Given the description of an element on the screen output the (x, y) to click on. 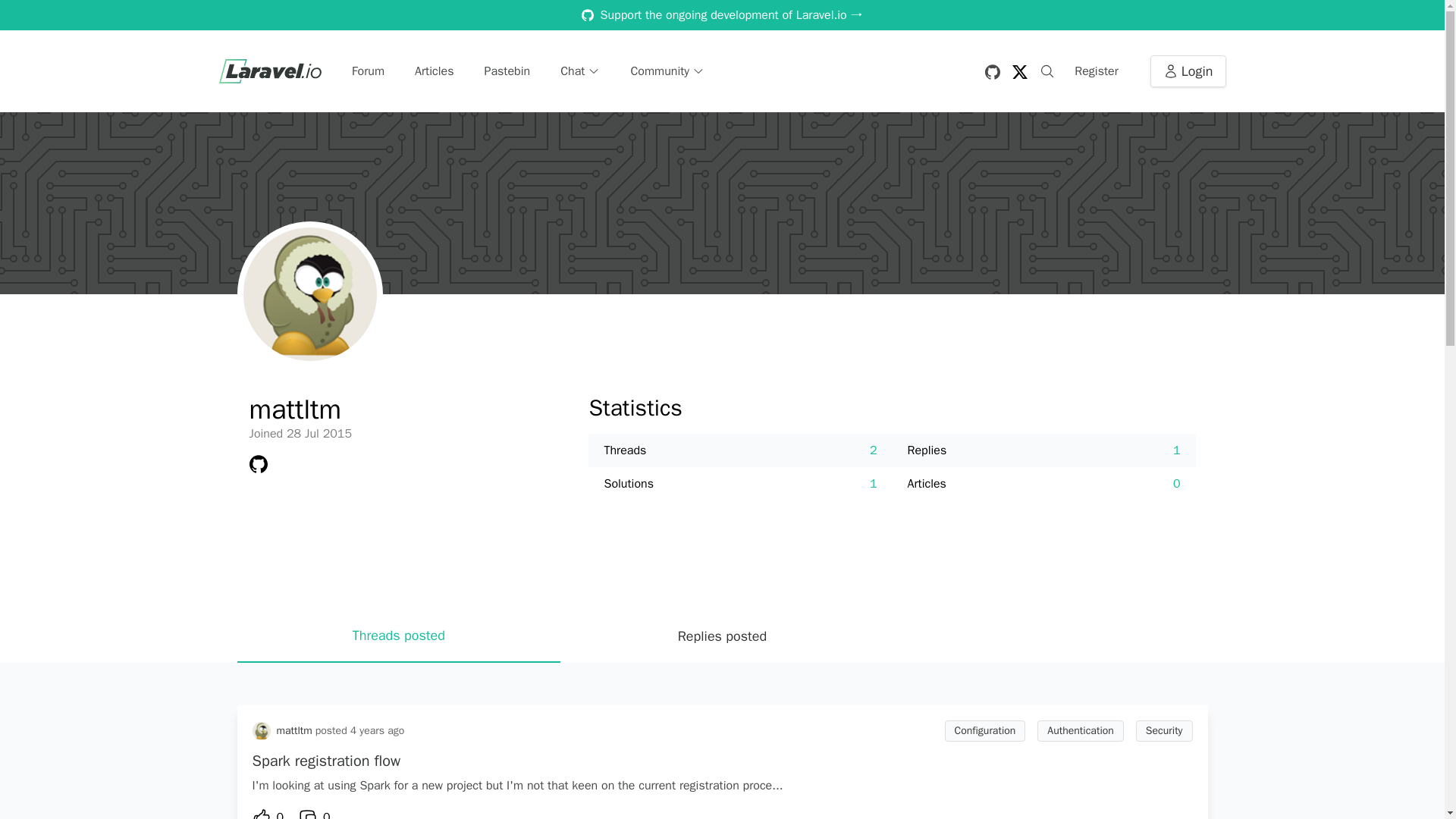
Configuration (985, 731)
Security (1163, 731)
Replies posted (721, 635)
Authentication (1080, 731)
Community (667, 70)
Login (1187, 70)
Chat (579, 70)
Forum (368, 70)
Pastebin (506, 70)
Register (1096, 70)
